Given the description of an element on the screen output the (x, y) to click on. 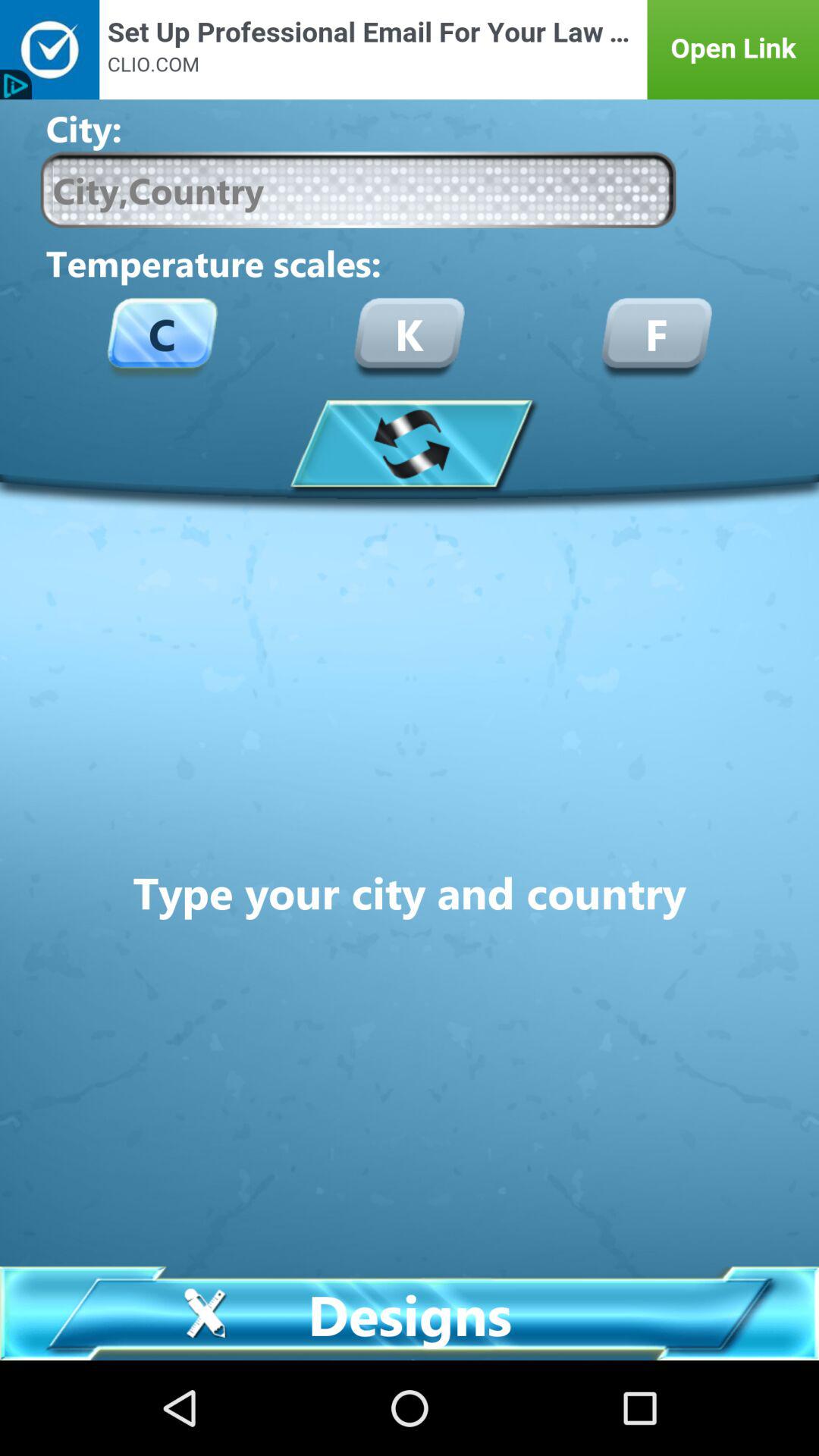
access advertisement (409, 49)
